Given the description of an element on the screen output the (x, y) to click on. 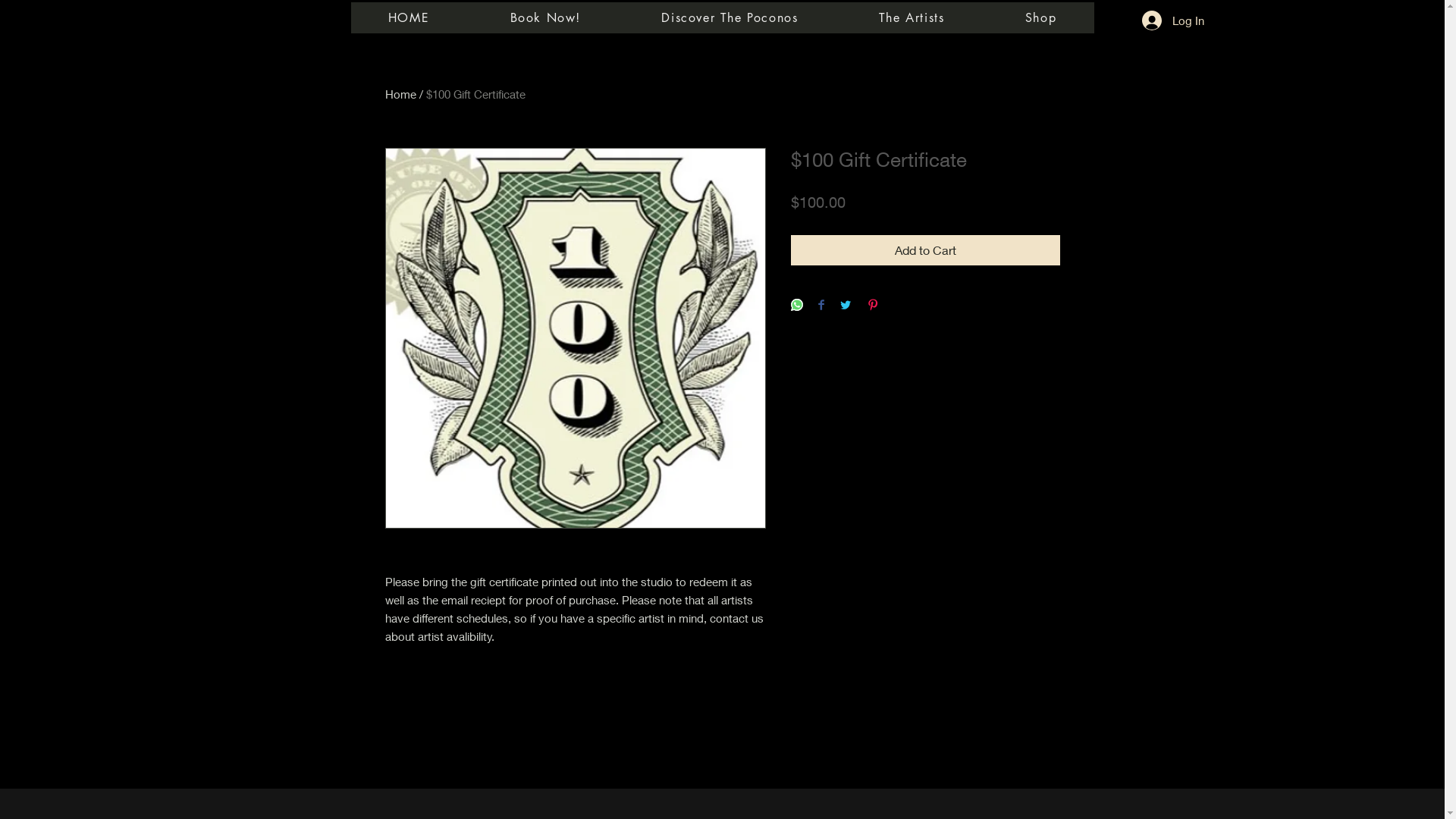
Home Element type: text (400, 93)
Shop Element type: text (1041, 17)
Book Now! Element type: text (545, 17)
Add to Cart Element type: text (924, 250)
Log In Element type: text (1172, 20)
The Artists Element type: text (911, 17)
Discover The Poconos Element type: text (729, 17)
$100 Gift Certificate Element type: text (475, 93)
HOME Element type: text (408, 17)
